Given the description of an element on the screen output the (x, y) to click on. 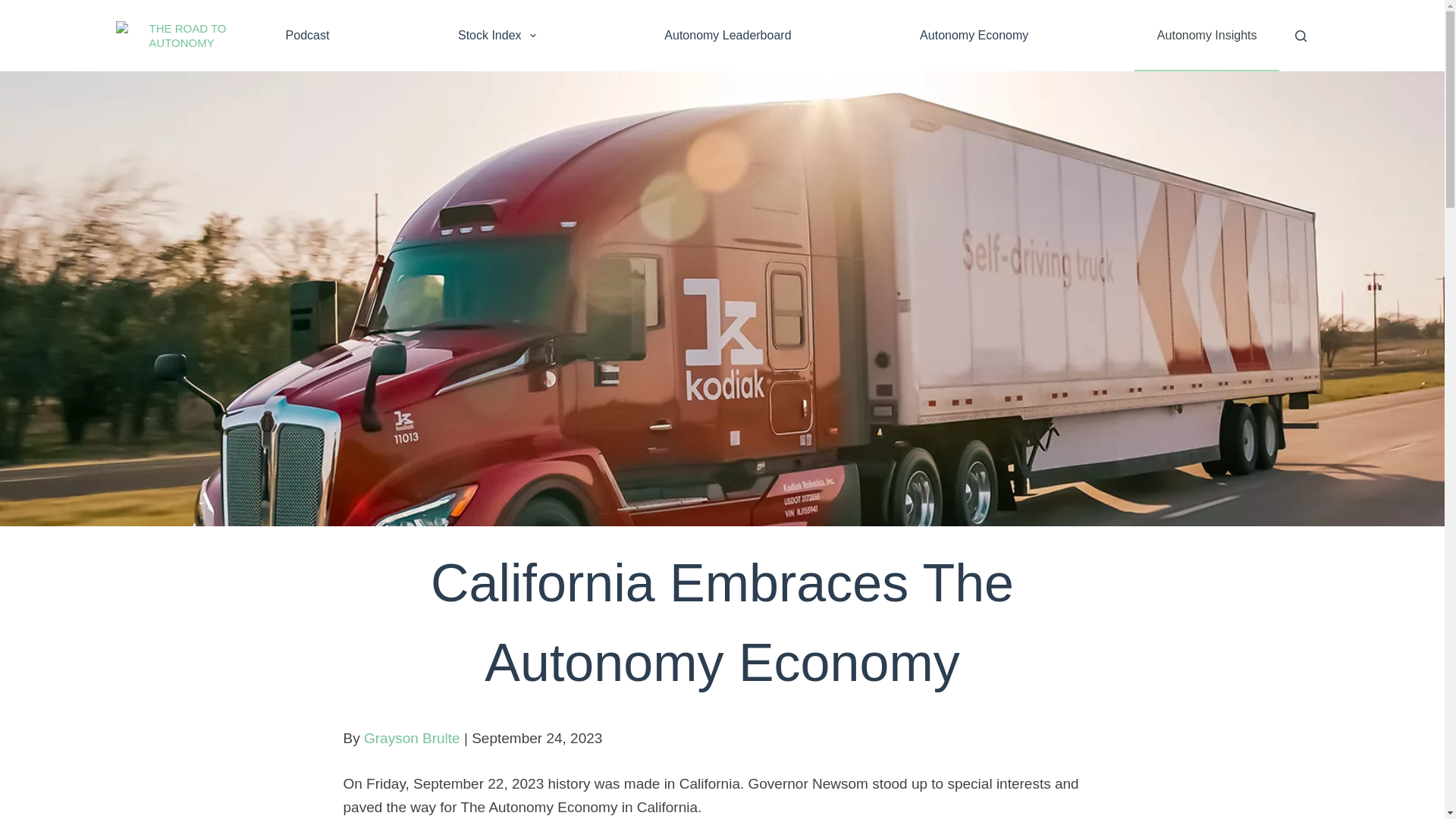
Autonomy Economy (973, 35)
Grayson Brulte (412, 738)
Podcast (307, 35)
Stock Index (497, 35)
Autonomy Insights (1206, 35)
Skip to content (15, 7)
Autonomy Leaderboard (727, 35)
The Road to Autonomy Podcast (307, 35)
